Given the description of an element on the screen output the (x, y) to click on. 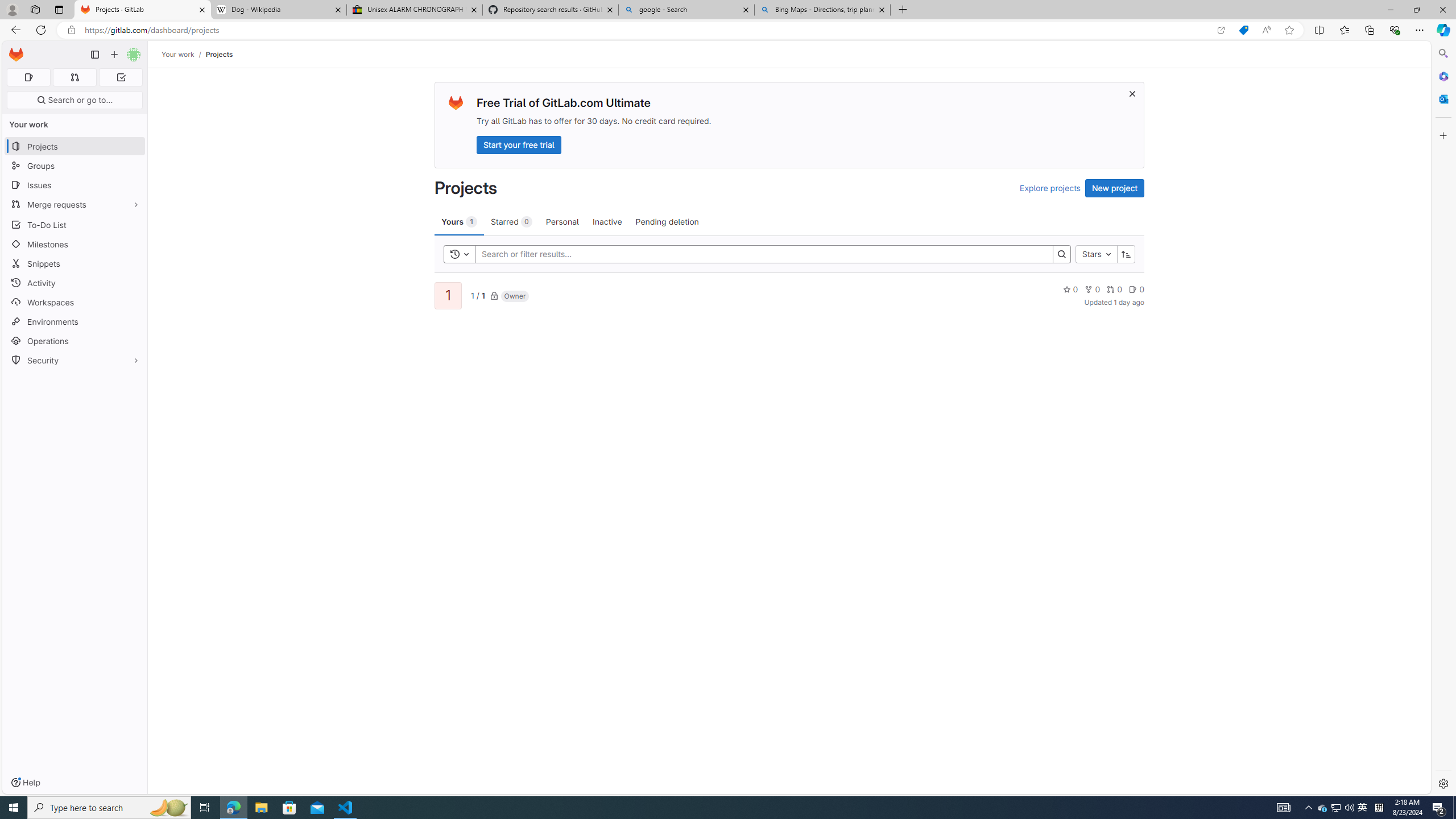
Snippets (74, 262)
To-Do List (74, 224)
Class: s16 gl-icon gl-button-icon  (1132, 93)
Operations (74, 340)
Your work (178, 53)
Groups (74, 165)
1 / 1 (477, 294)
Sort direction: Ascending (1125, 253)
Security (74, 359)
Security (74, 359)
Stars (1096, 253)
